Given the description of an element on the screen output the (x, y) to click on. 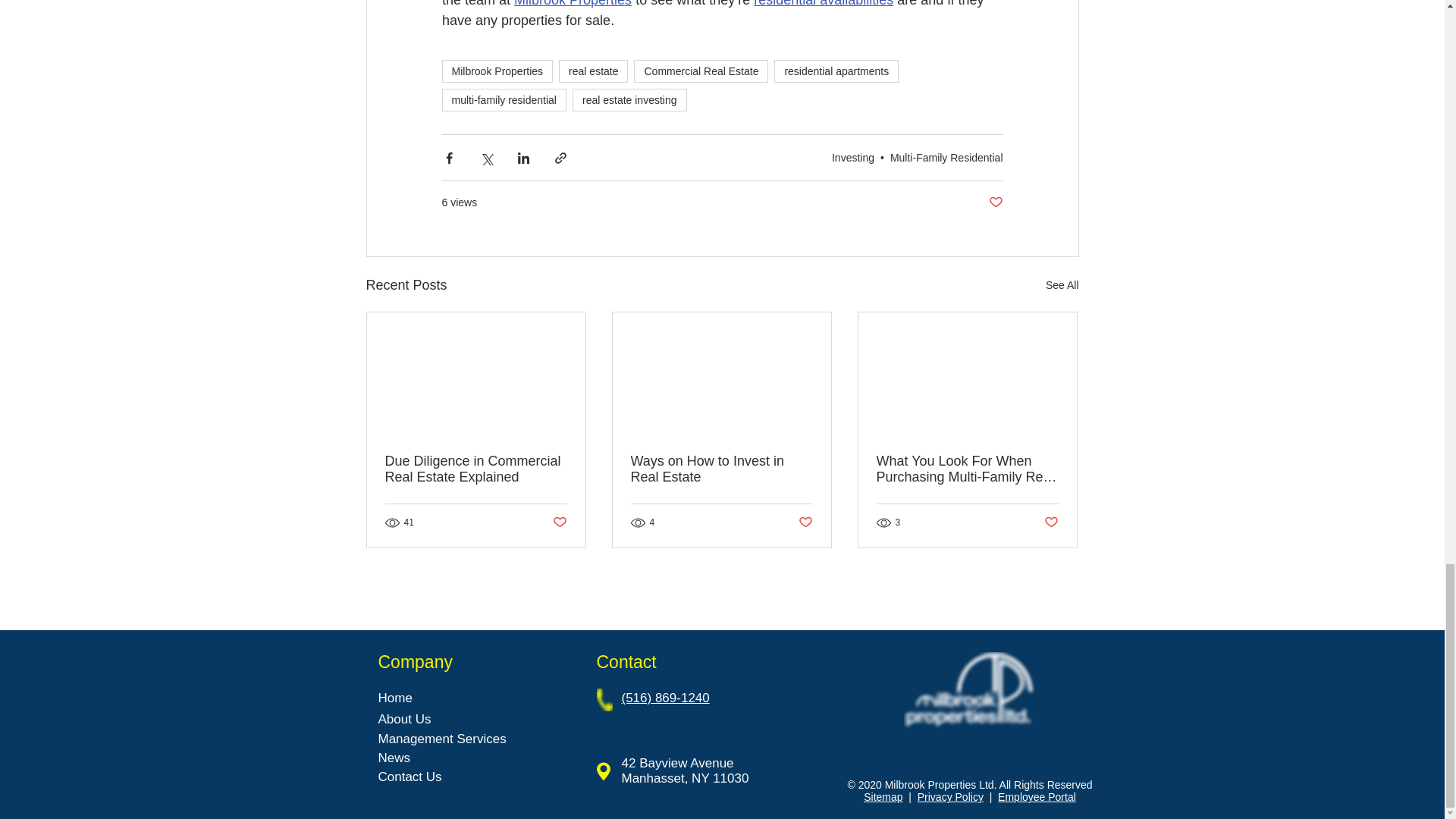
residential availabilities (823, 3)
Commercial Real Estate (700, 70)
Milbrook Properties (497, 70)
real estate (593, 70)
Milbrook Properties (572, 3)
